Given the description of an element on the screen output the (x, y) to click on. 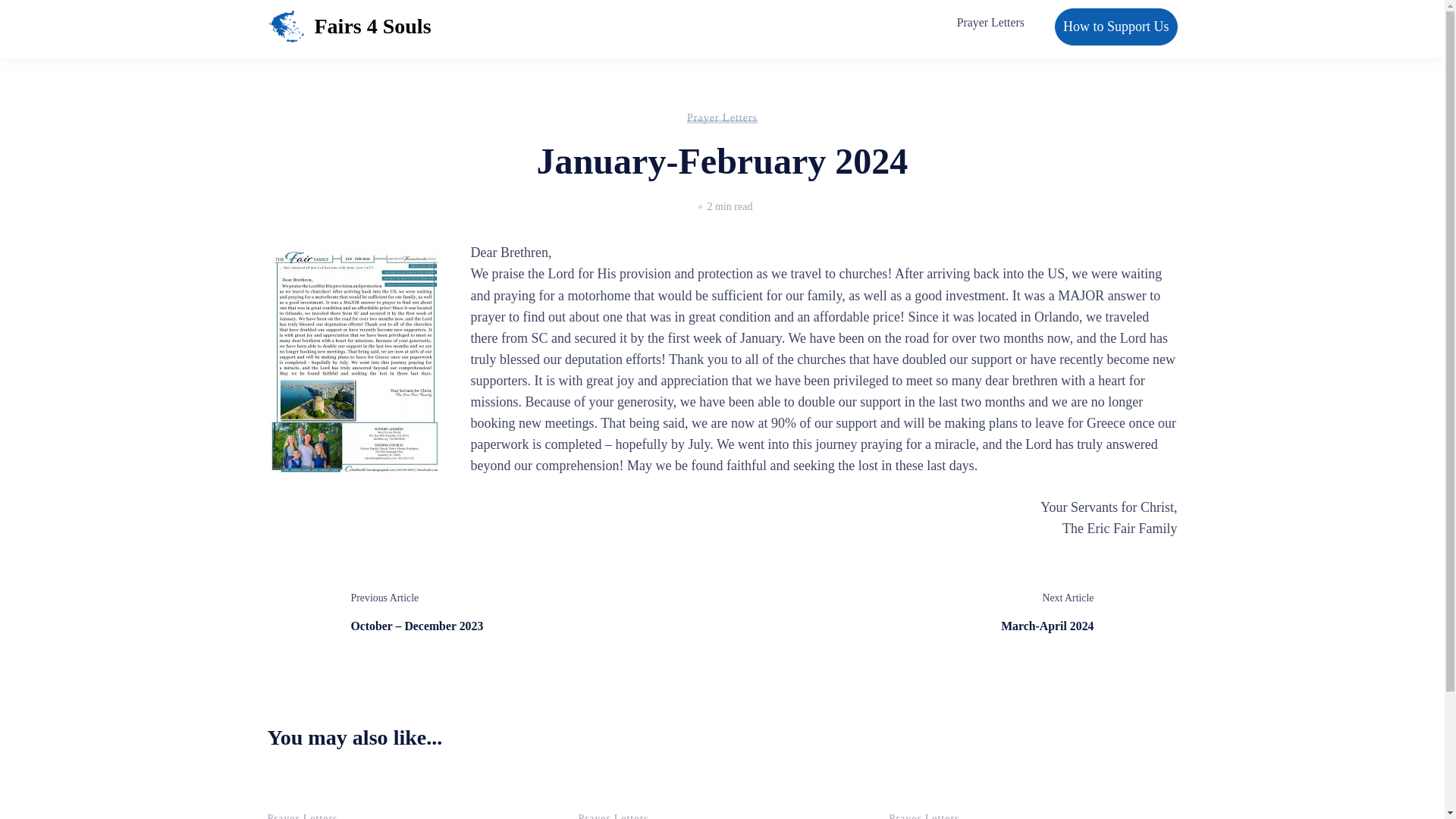
Prayer Letters (990, 22)
Prayer Letters (1047, 611)
Fairs 4 Souls (722, 117)
How to Support Us (372, 25)
